Given the description of an element on the screen output the (x, y) to click on. 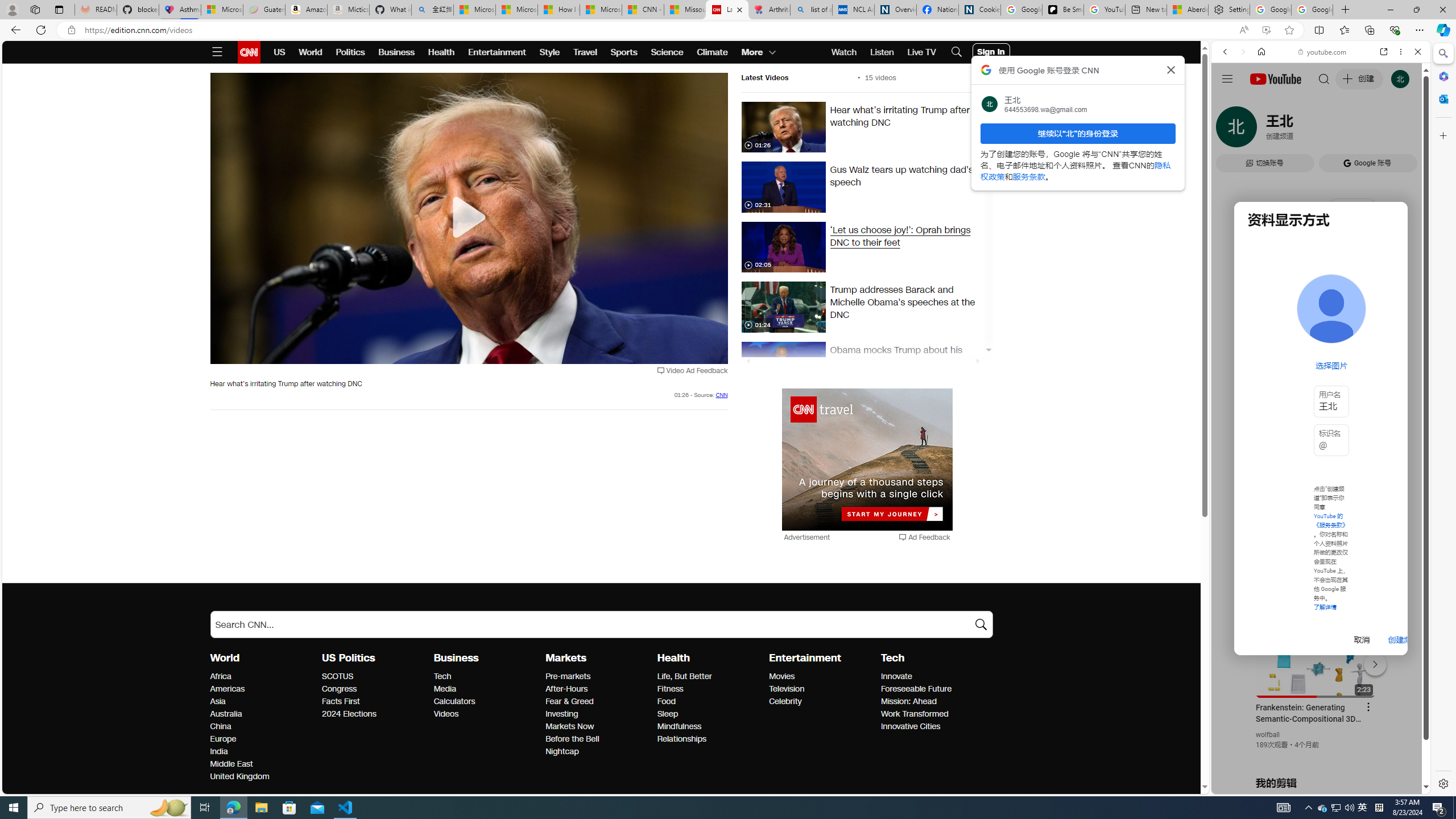
Tech (485, 676)
US Politics Congress (338, 688)
Click to scroll right (1407, 456)
Live TV (921, 52)
Class: dict_pnIcon rms_img (1312, 784)
SCOTUS (373, 676)
Search Icon (956, 52)
